Given the description of an element on the screen output the (x, y) to click on. 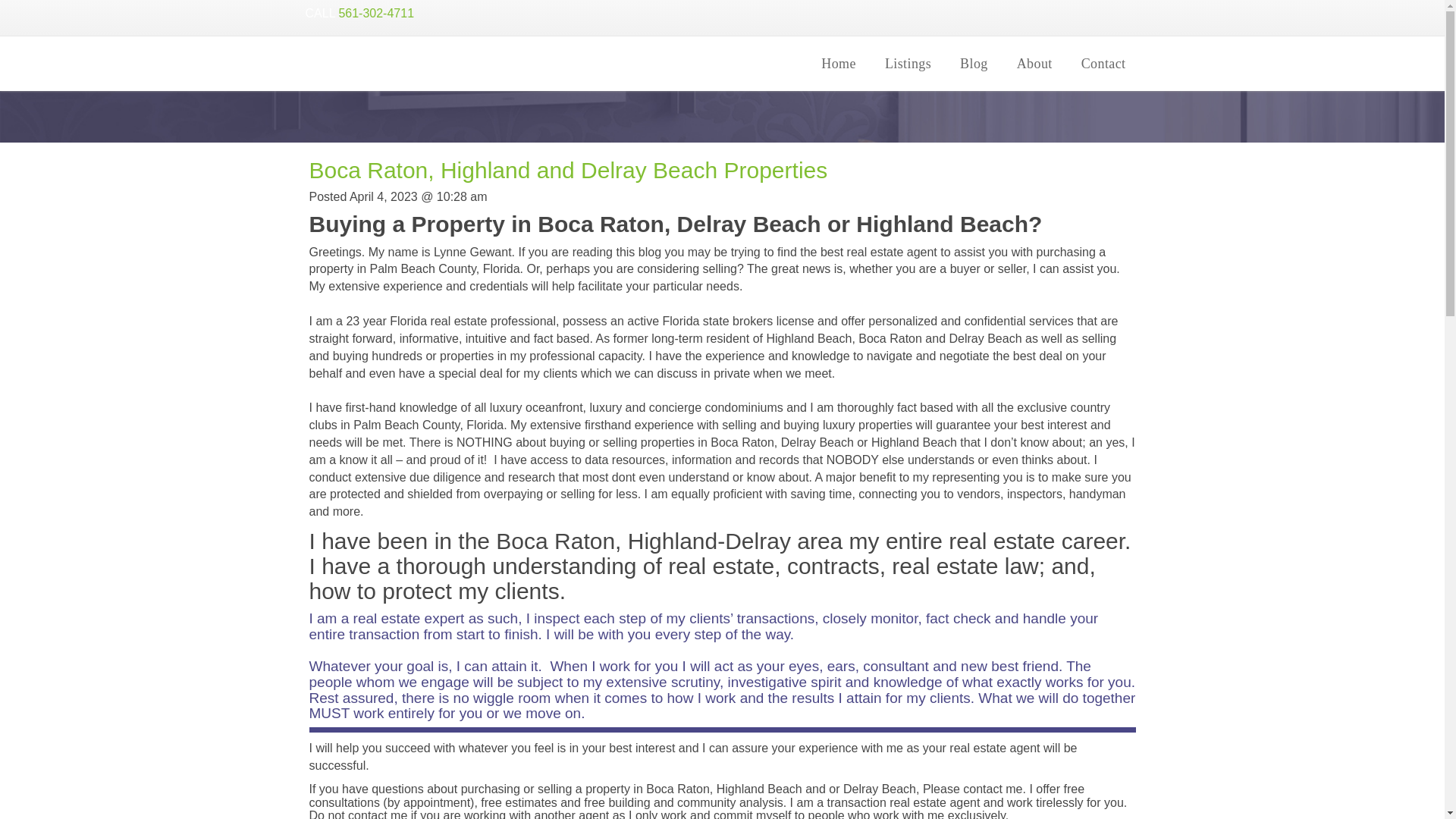
561-302-4711 (375, 12)
About (1035, 63)
Boca Raton, Highland and Delray Beach Properties (568, 170)
Contact (1103, 63)
Home (838, 63)
Listings (907, 63)
Blog (973, 63)
